Given the description of an element on the screen output the (x, y) to click on. 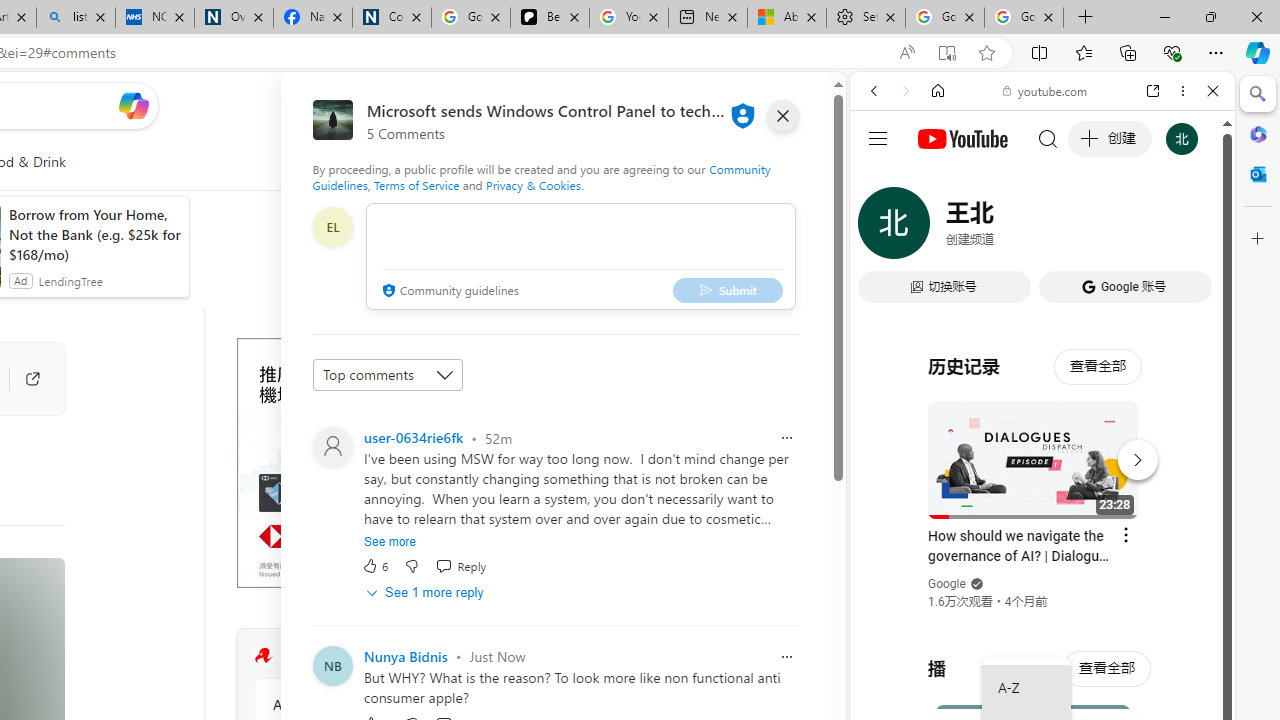
SEARCH TOOLS (1093, 228)
Be Smart | creating Science videos | Patreon (549, 17)
Close Customize pane (1258, 239)
See 1 more reply (425, 592)
Music (1042, 543)
Advertisement (386, 462)
Go to publisher's site (22, 378)
